Given the description of an element on the screen output the (x, y) to click on. 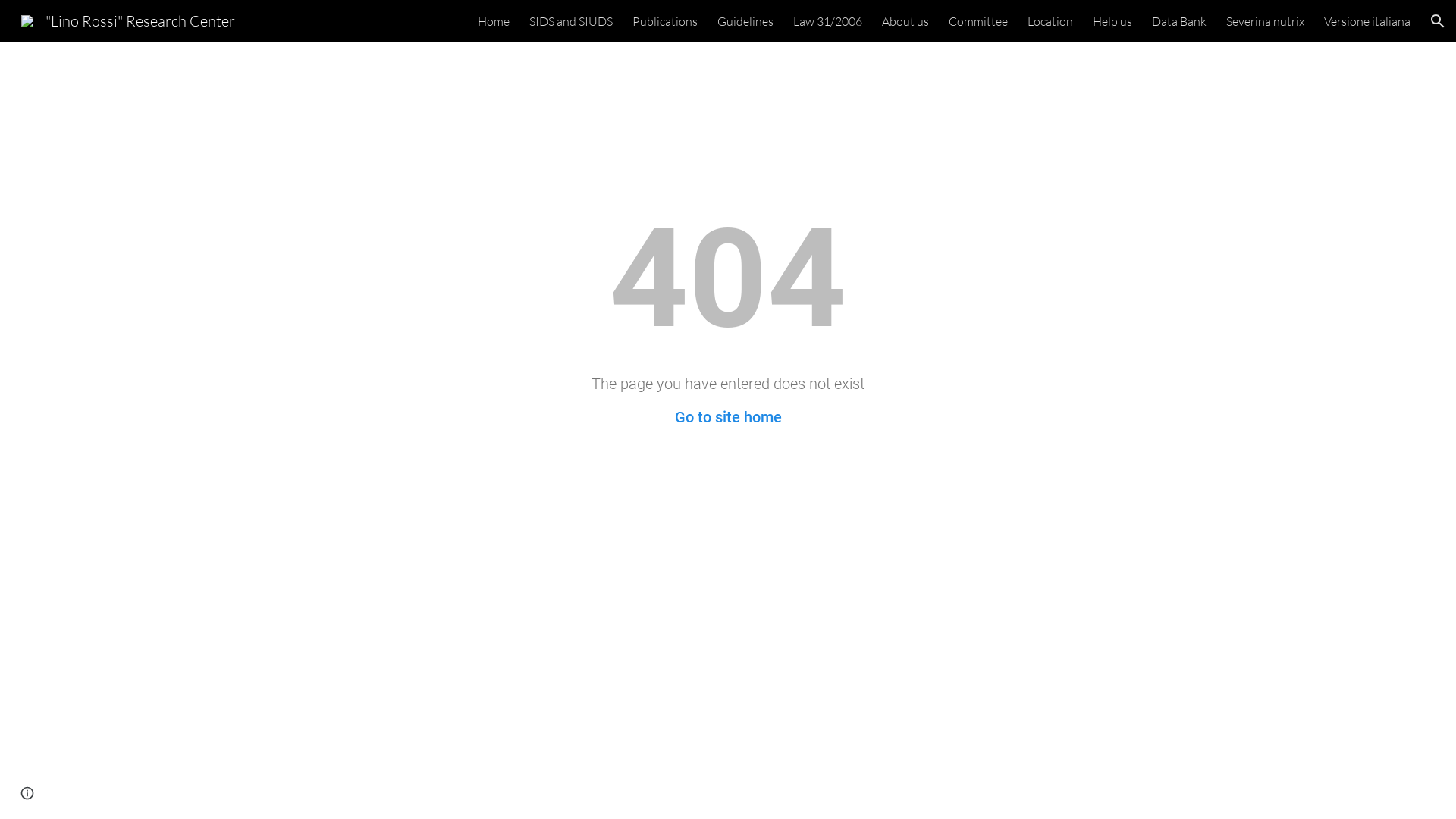
About us Element type: text (904, 20)
Go to site home Element type: text (727, 416)
Committee Element type: text (977, 20)
Publications Element type: text (664, 20)
Home Element type: text (493, 20)
Help us Element type: text (1112, 20)
SIDS and SIUDS Element type: text (570, 20)
"Lino Rossi" Research Center Element type: text (128, 18)
Versione italiana Element type: text (1367, 20)
Severina nutrix Element type: text (1265, 20)
Law 31/2006 Element type: text (827, 20)
Data Bank Element type: text (1178, 20)
Location Element type: text (1050, 20)
Guidelines Element type: text (745, 20)
